Given the description of an element on the screen output the (x, y) to click on. 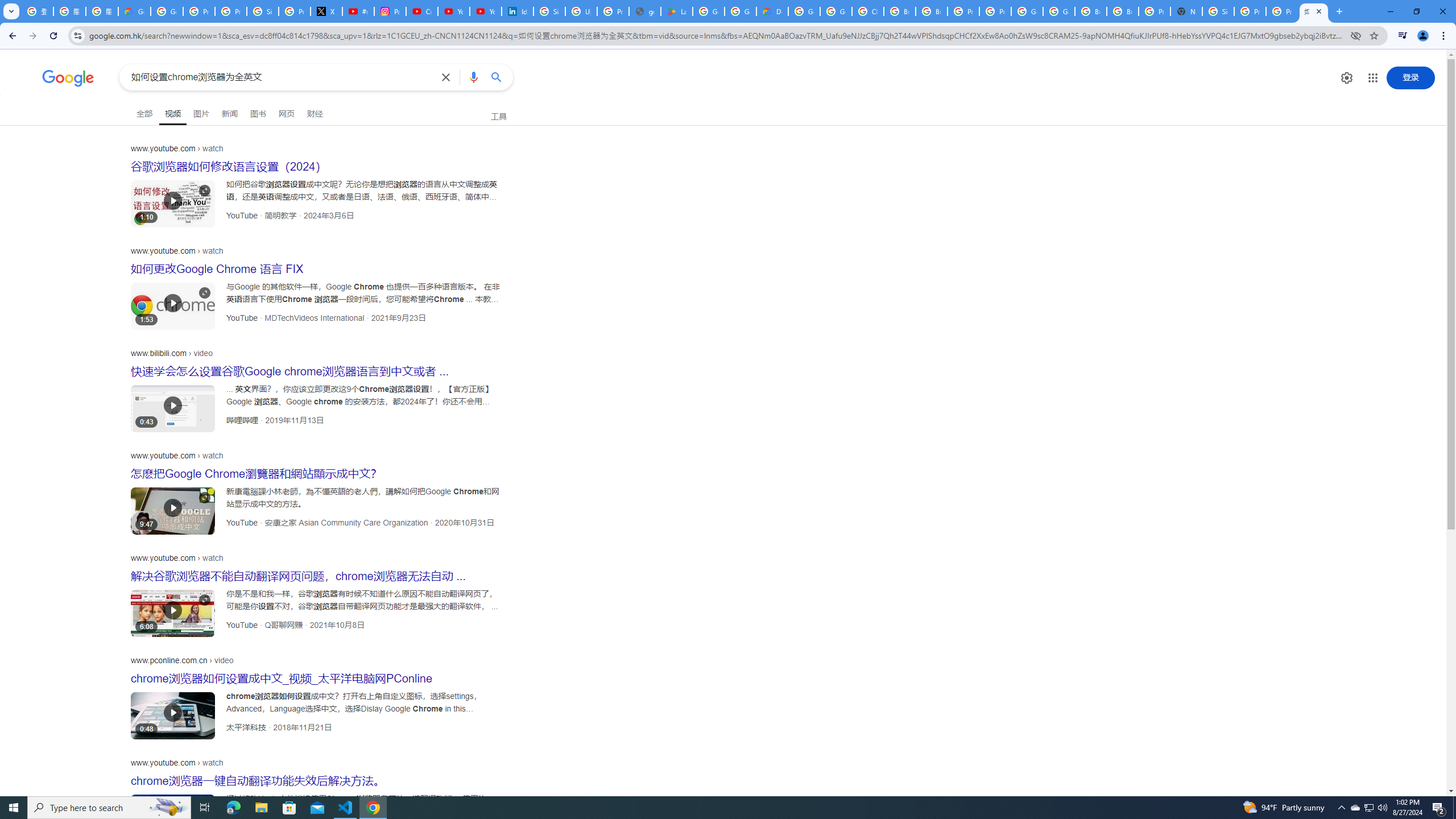
YouTube Culture & Trends - YouTube Top 10, 2021 (485, 11)
Google Workspace - Specific Terms (740, 11)
X (326, 11)
